Given the description of an element on the screen output the (x, y) to click on. 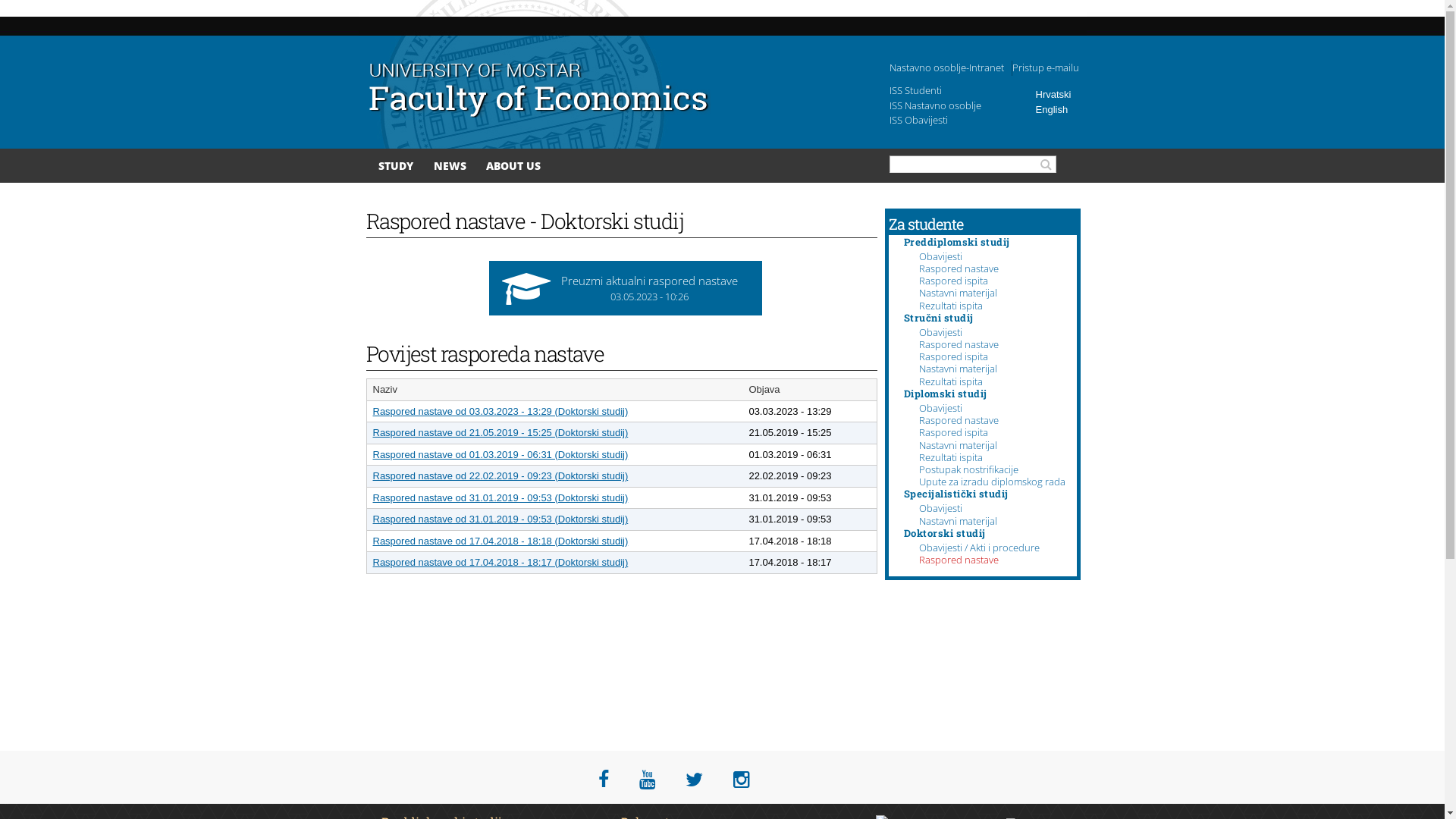
Raspored nastave od 17.04.2018 - 18:17 (Doktorski studij) Element type: text (500, 561)
Rezultati ispita Element type: text (950, 457)
Raspored nastave Element type: text (958, 559)
Nastavni materijal Element type: text (958, 444)
Raspored nastave Element type: text (958, 268)
Raspored nastave od 01.03.2019 - 06:31 (Doktorski studij) Element type: text (500, 454)
Raspored nastave od 17.04.2018 - 18:18 (Doktorski studij) Element type: text (500, 540)
Nastavni materijal Element type: text (958, 292)
Raspored ispita Element type: text (953, 280)
Hrvatski Element type: text (1053, 94)
Raspored nastave od 03.03.2023 - 13:29 (Doktorski studij) Element type: text (500, 410)
Pristup e-mailu Element type: text (1044, 67)
Postupak nostrifikacije Element type: text (968, 469)
Preuzmi aktualni raspored nastave
03.05.2023 - 10:26 Element type: text (624, 288)
Nastavno osoblje-Intranet Element type: text (945, 67)
Nastavni materijal Element type: text (958, 520)
Raspored ispita Element type: text (953, 432)
Search Element type: text (1047, 164)
Raspored nastave Element type: text (958, 344)
Obavijesti Element type: text (940, 407)
Rezultati ispita Element type: text (950, 305)
Obavijesti Element type: text (940, 256)
Nastavni materijal Element type: text (958, 368)
Obavijesti Element type: text (940, 507)
Raspored nastave od 31.01.2019 - 09:53 (Doktorski studij) Element type: text (500, 496)
English Element type: text (1051, 108)
Upute za izradu diplomskog rada Element type: text (992, 481)
Raspored nastave od 21.05.2019 - 15:25 (Doktorski studij) Element type: text (500, 432)
Rezultati ispita Element type: text (950, 381)
Obavijesti Element type: text (940, 331)
STUDY Element type: text (395, 165)
ISS Studenti Element type: text (914, 90)
Raspored nastave Element type: text (958, 419)
Raspored nastave od 31.01.2019 - 09:53 (Doktorski studij) Element type: text (500, 518)
Enter the terms you wish to search for. Element type: hover (972, 163)
NEWS Element type: text (449, 165)
Obavijesti / Akti i procedure Element type: text (979, 547)
Skip to main content Element type: text (694, 1)
ISS Nastavno osoblje Element type: text (934, 105)
ISS Obavijesti Element type: text (917, 119)
Raspored ispita Element type: text (953, 356)
Raspored nastave od 22.02.2019 - 09:23 (Doktorski studij) Element type: text (500, 475)
ABOUT US Element type: text (513, 165)
